Given the description of an element on the screen output the (x, y) to click on. 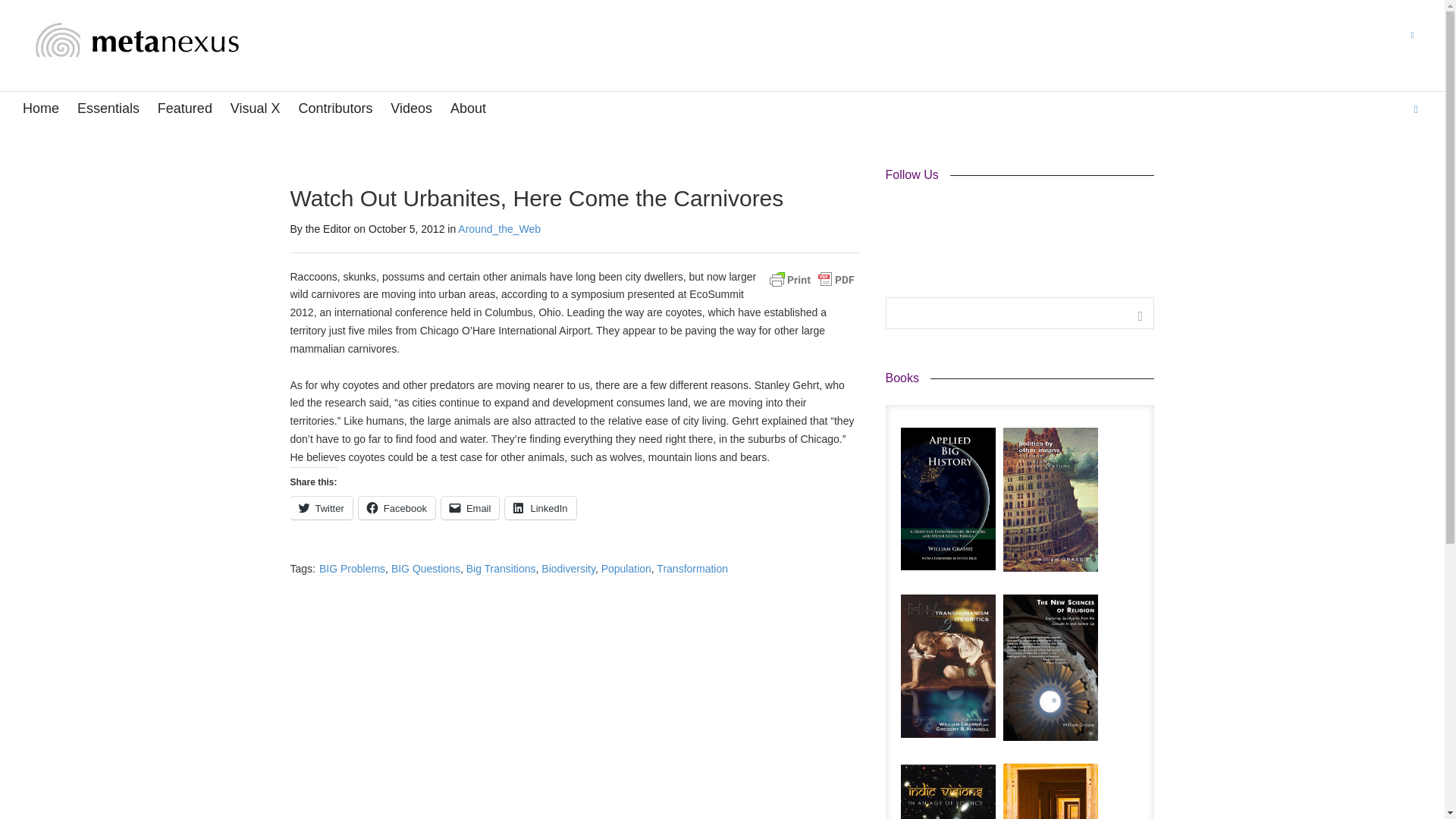
About (467, 109)
LinkedIn (540, 507)
Biodiversity (568, 568)
BIG Questions (425, 568)
Featured (184, 109)
Visual X (255, 109)
Facebook (897, 213)
Home (41, 109)
Contributors (335, 109)
Big Transitions (500, 568)
Transformation (692, 568)
Click to share on LinkedIn (540, 507)
Click to email a link to a friend (470, 507)
BIG Problems (351, 568)
Twitter (320, 507)
